Given the description of an element on the screen output the (x, y) to click on. 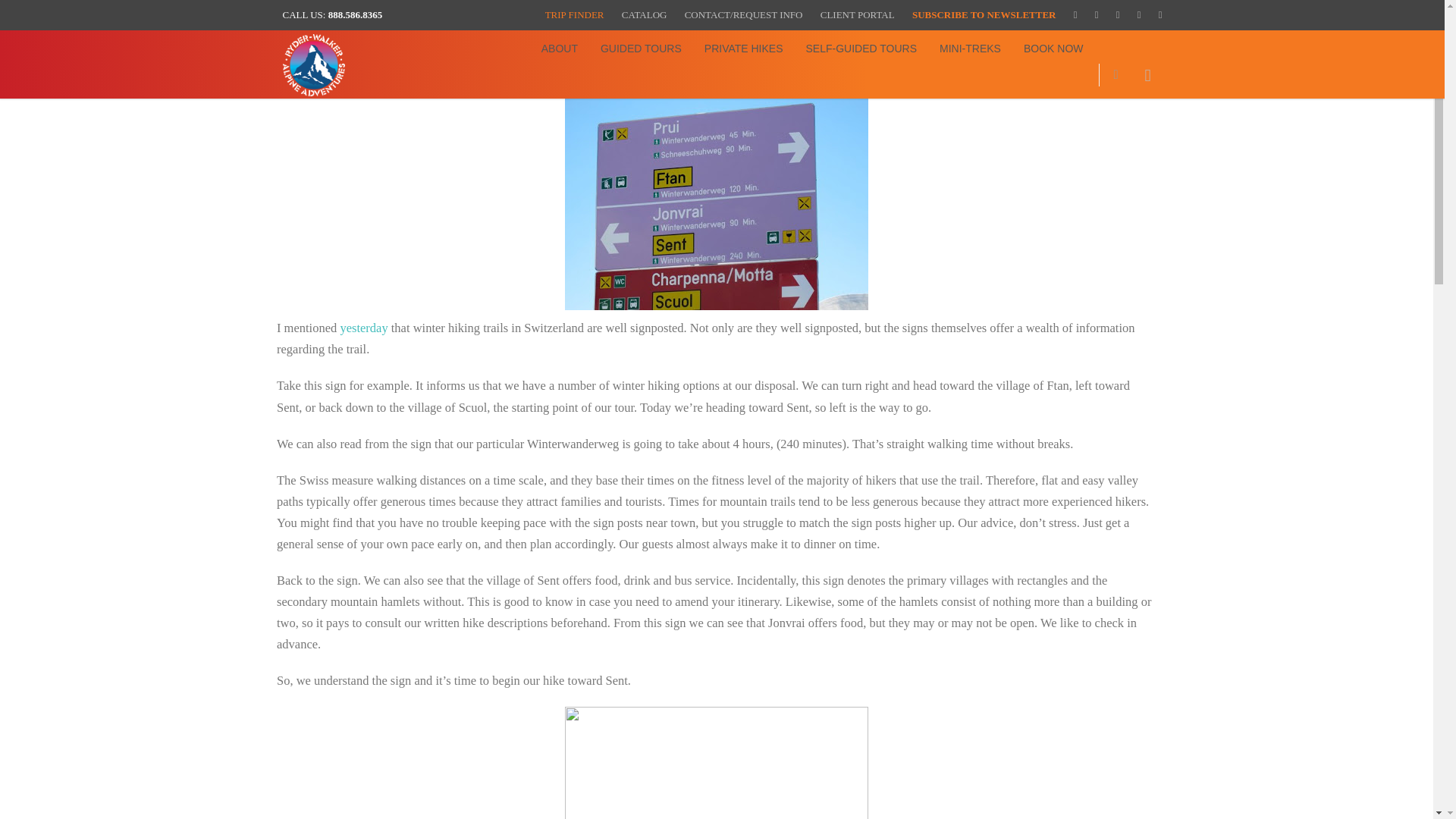
Permalink to Some Kinda Sign (346, 59)
TRIP FINDER (574, 14)
SUBSCRIBE TO NEWSLETTER (984, 14)
ABOUT (559, 48)
888.586.8365 (355, 14)
CLIENT PORTAL (858, 14)
GUIDED TOURS (641, 48)
CATALOG (643, 14)
